Given the description of an element on the screen output the (x, y) to click on. 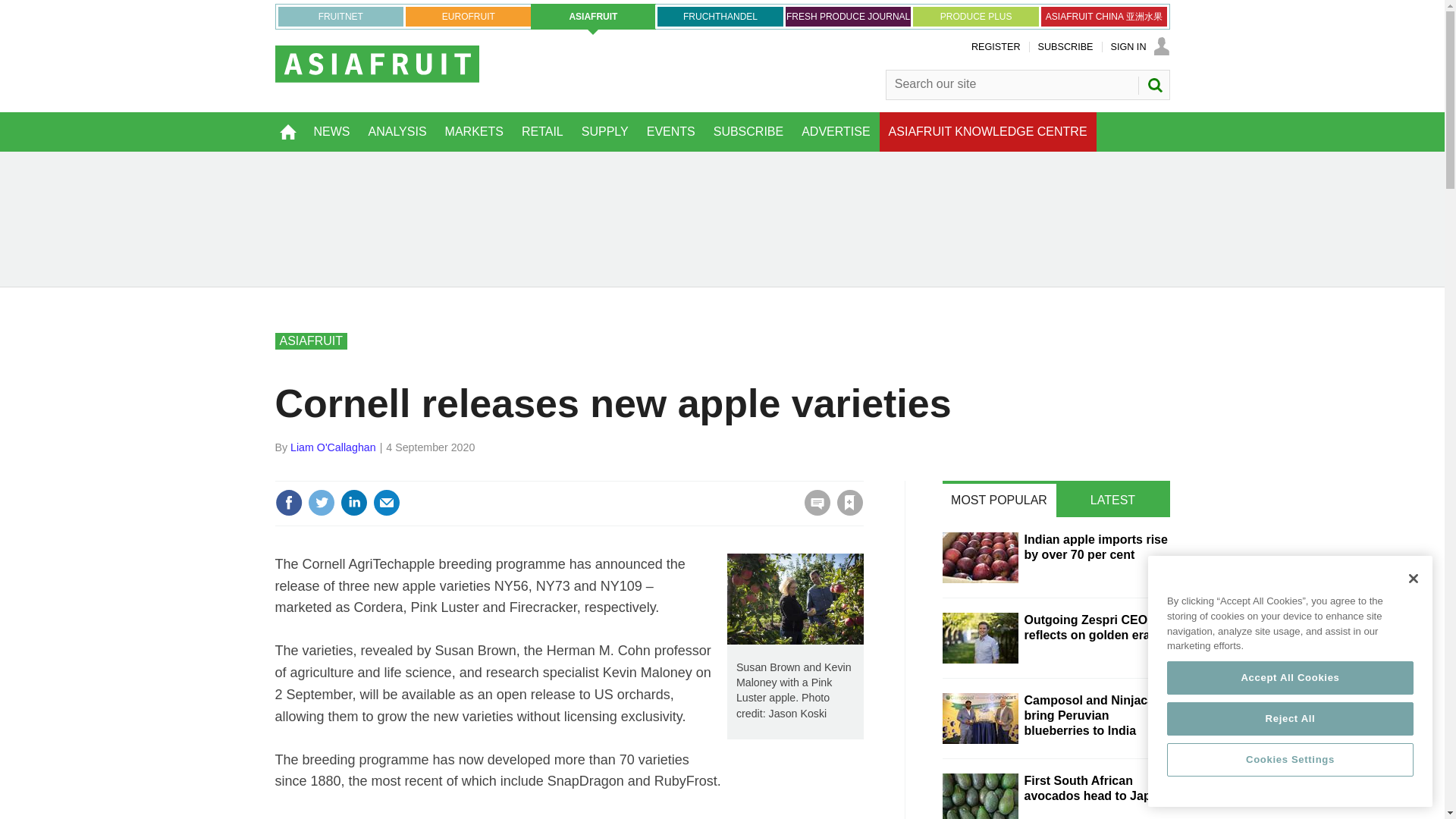
NEWS (331, 131)
Share this on Linked in (352, 502)
No comments (812, 511)
ANALYSIS (397, 131)
SUBSCRIBE (1065, 46)
REGISTER (995, 46)
PRODUCE PLUS (975, 16)
ASIAFRUIT (593, 16)
RETAIL (542, 131)
Share this on Facebook (288, 502)
Share this on Twitter (320, 502)
FRUCHTHANDEL (720, 16)
SIGN IN (1139, 46)
FRUITNET (340, 16)
SEARCH (1153, 84)
